Given the description of an element on the screen output the (x, y) to click on. 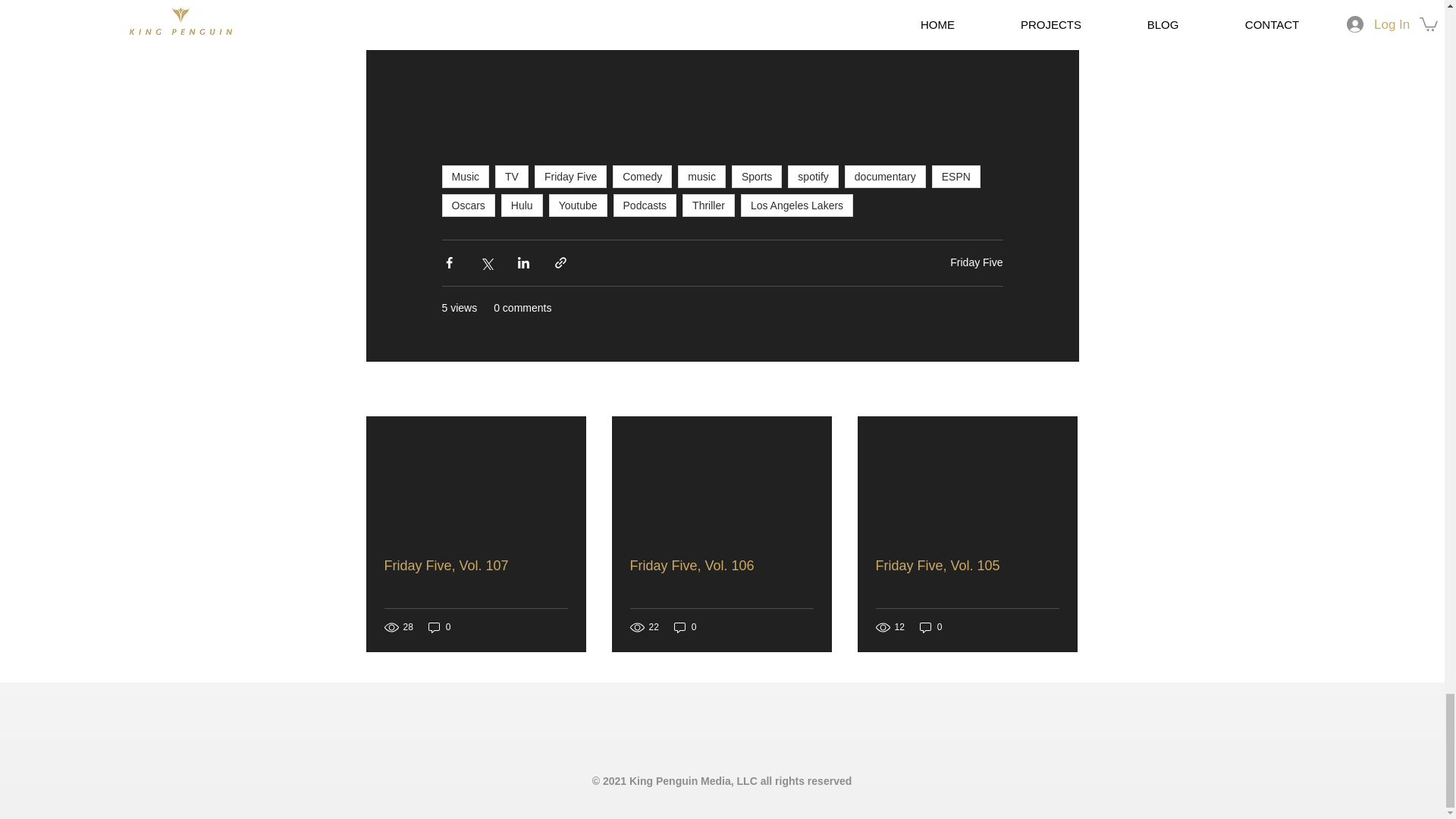
Comedy (641, 176)
Hulu (521, 205)
Oscars (468, 205)
Youtube (577, 205)
Sports (756, 176)
documentary (885, 176)
Friday Five (570, 176)
music (701, 176)
TV (511, 176)
Music (465, 176)
